Given the description of an element on the screen output the (x, y) to click on. 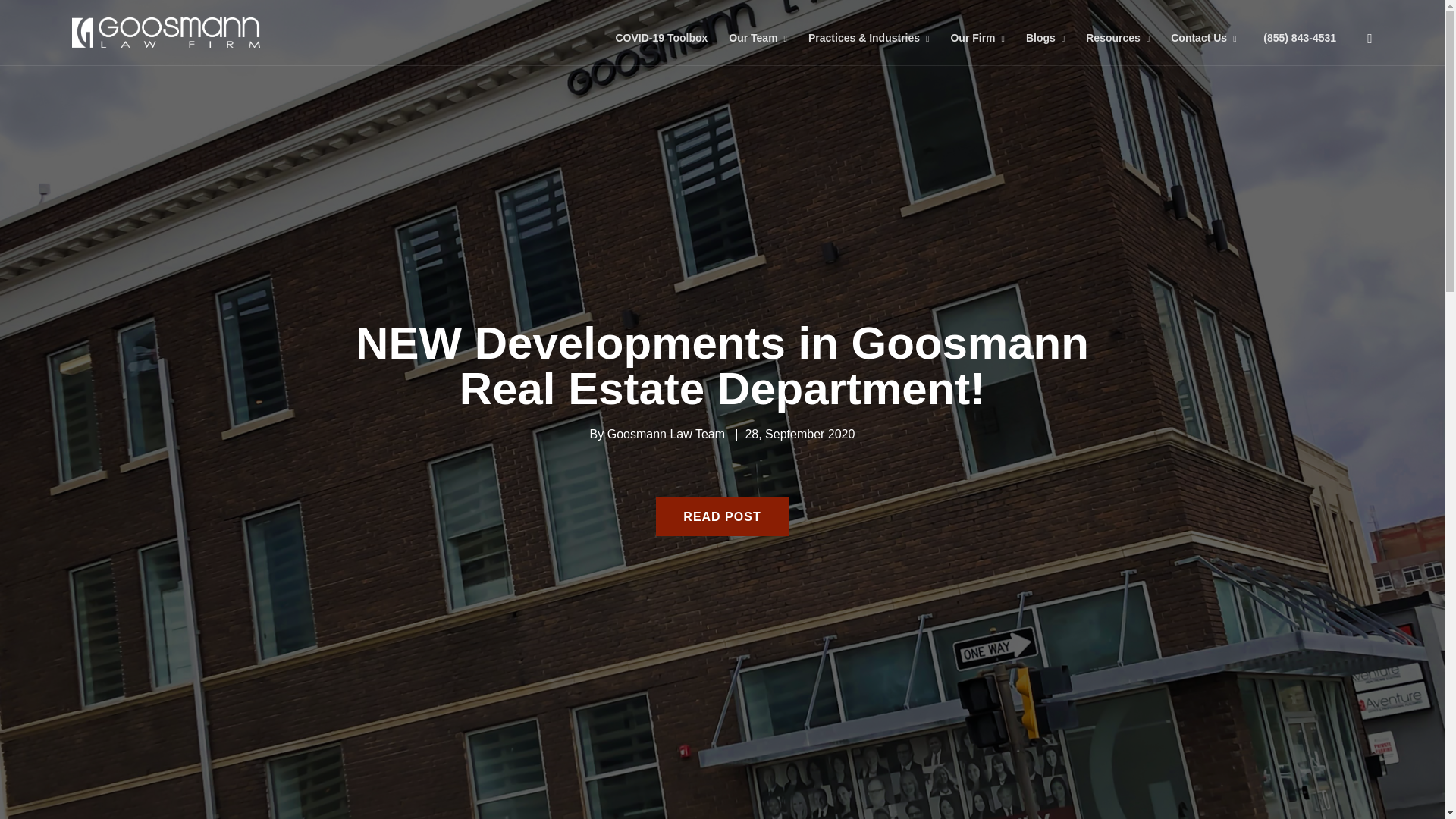
Goosman Lawfirm (165, 32)
Our Team (758, 32)
Our Firm (977, 32)
COVID-19 Toolbox (660, 32)
